Given the description of an element on the screen output the (x, y) to click on. 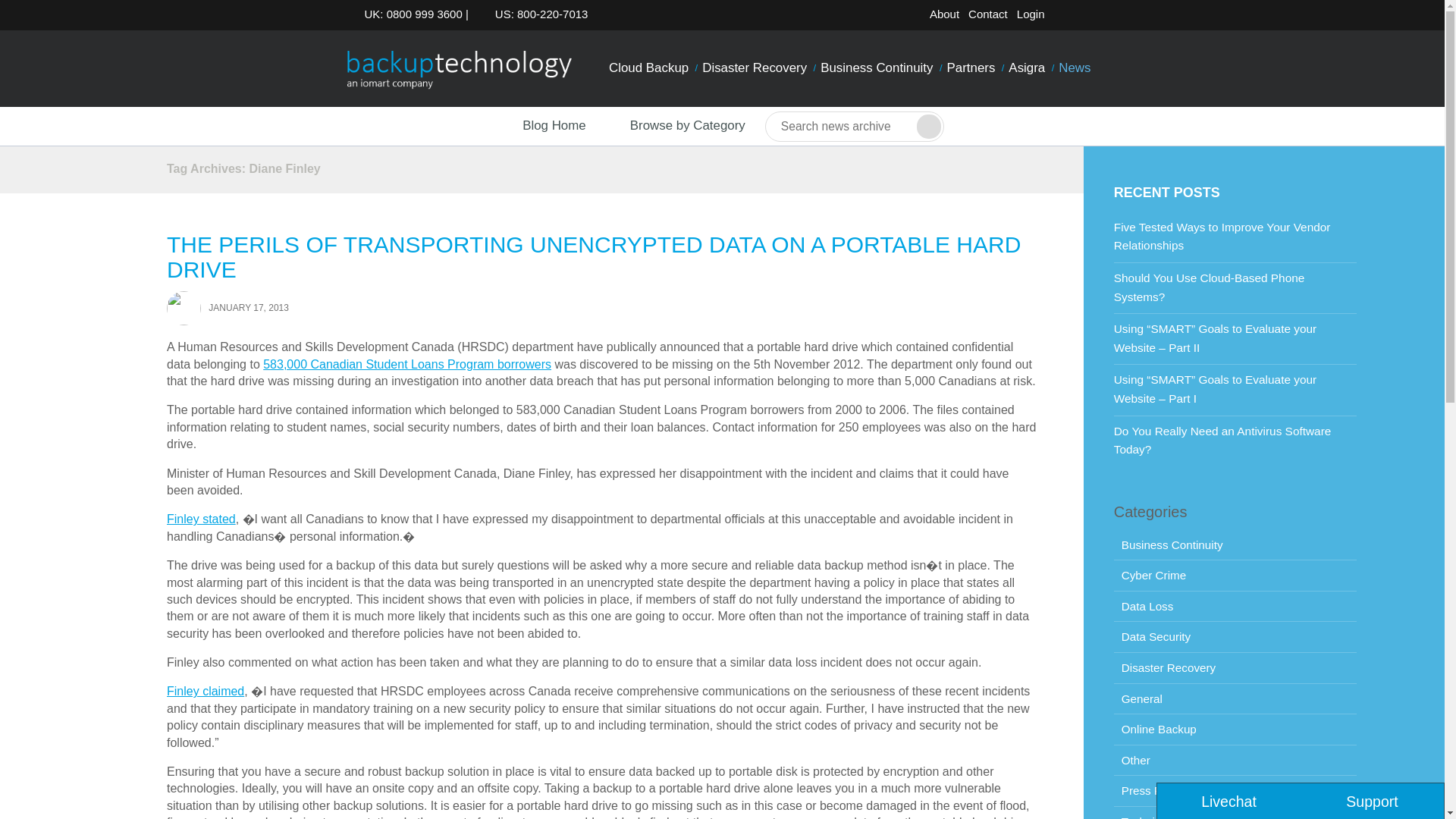
News (1074, 68)
View all posts by . (183, 307)
Browse by Category (675, 126)
twitter (1064, 17)
US: 800-220-7013 (536, 14)
About (943, 14)
Contact (987, 14)
Asigra (1026, 68)
Disaster Recovery (754, 68)
Facebook (1088, 17)
Partners (971, 68)
Cloud Backup (648, 68)
Business Continuity (876, 68)
Login (1030, 14)
Blog Home (539, 126)
